Given the description of an element on the screen output the (x, y) to click on. 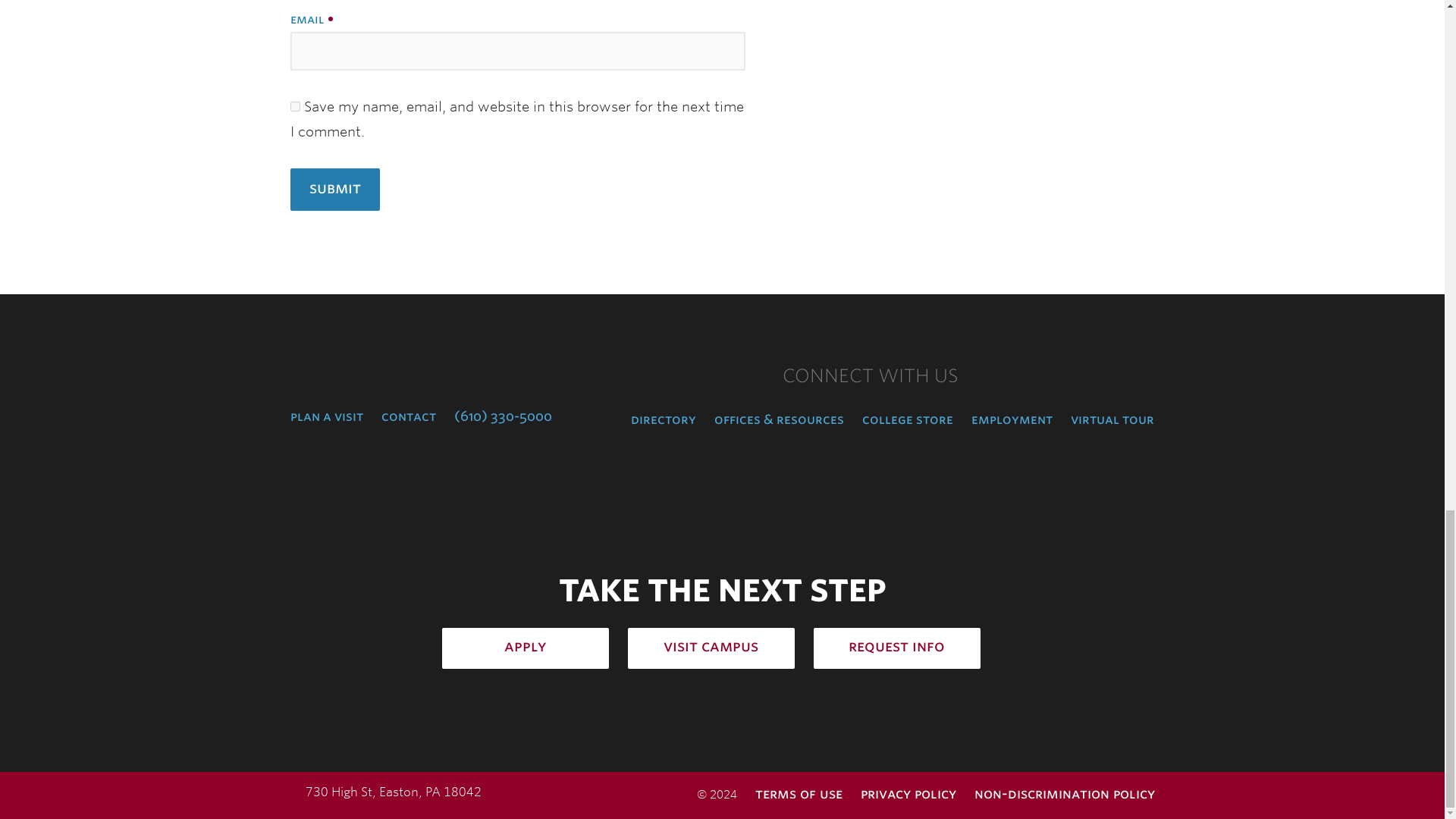
yes (294, 106)
submit (333, 189)
